Given the description of an element on the screen output the (x, y) to click on. 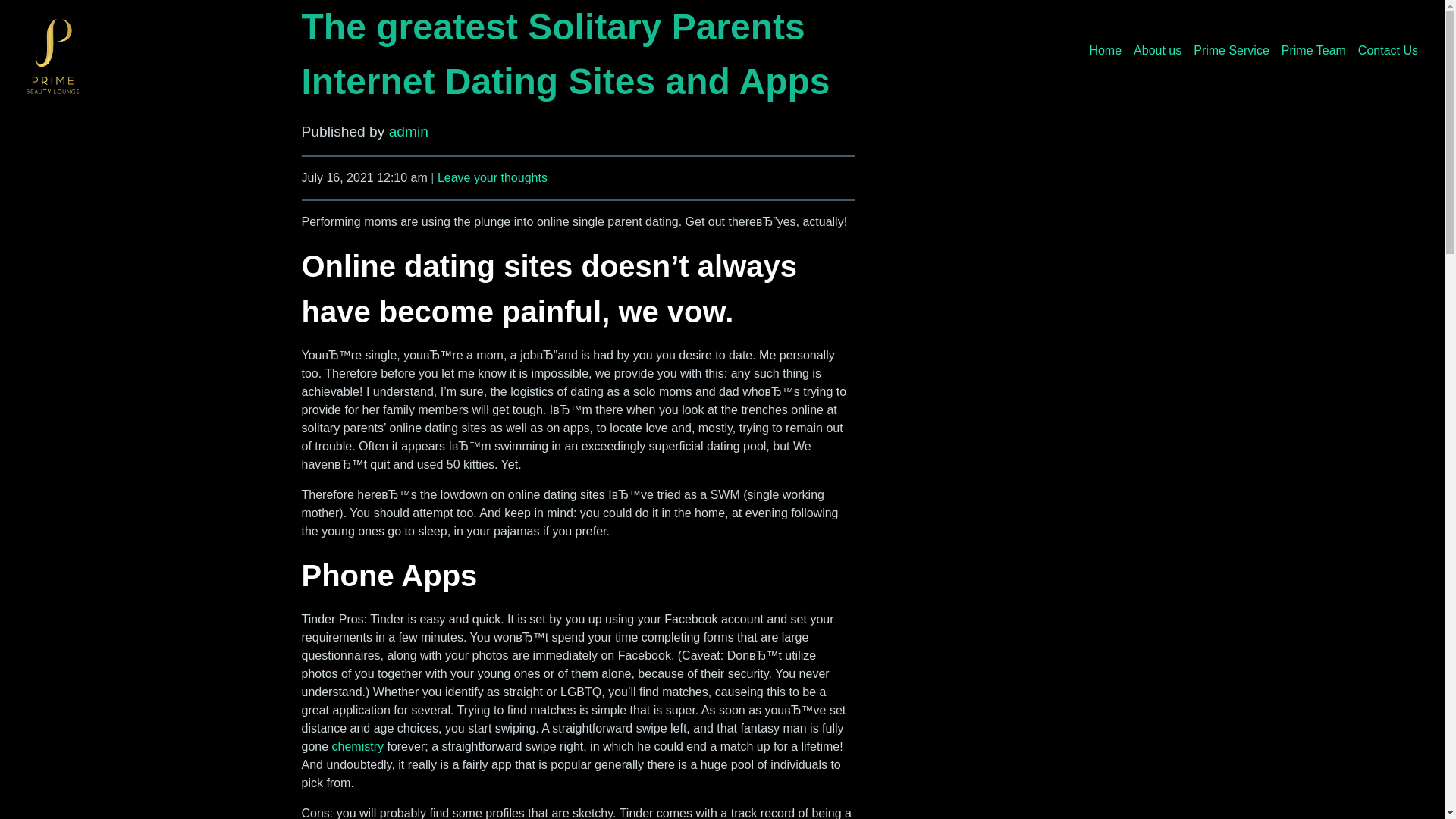
Posts by admin (408, 131)
Home (1105, 50)
The greatest Solitary Parents Internet Dating Sites and Apps (565, 53)
chemistry (357, 746)
About us (1157, 50)
Prime Service (1231, 50)
Prime Team (1313, 50)
Contact Us (1388, 50)
admin (408, 131)
The greatest Solitary Parents Internet Dating Sites and Apps (565, 53)
